Given the description of an element on the screen output the (x, y) to click on. 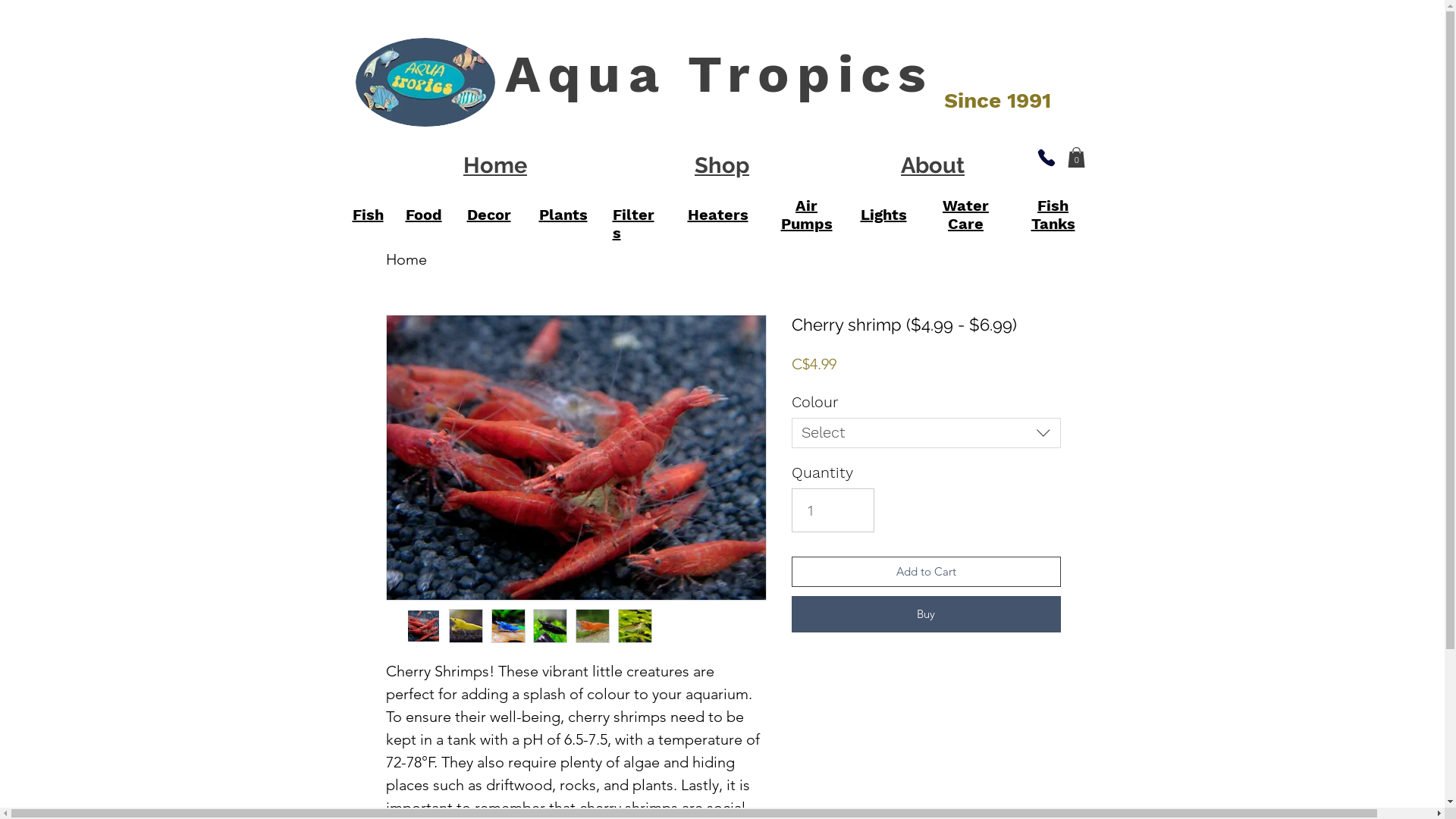
Home Element type: text (405, 259)
About Element type: text (932, 164)
Decor Element type: text (489, 214)
0 Element type: text (1076, 157)
Food Element type: text (422, 214)
Buy Element type: text (925, 614)
Plants Element type: text (562, 214)
Water
Care Element type: text (965, 214)
Heaters Element type: text (717, 214)
Select Element type: text (925, 432)
Air Pumps Element type: text (806, 214)
Add to Cart Element type: text (925, 571)
Home Element type: text (494, 164)
Filters Element type: text (633, 223)
Shop Element type: text (721, 164)
Lights Element type: text (882, 214)
Fish Element type: text (366, 214)
Fish Tanks Element type: text (1053, 214)
